Given the description of an element on the screen output the (x, y) to click on. 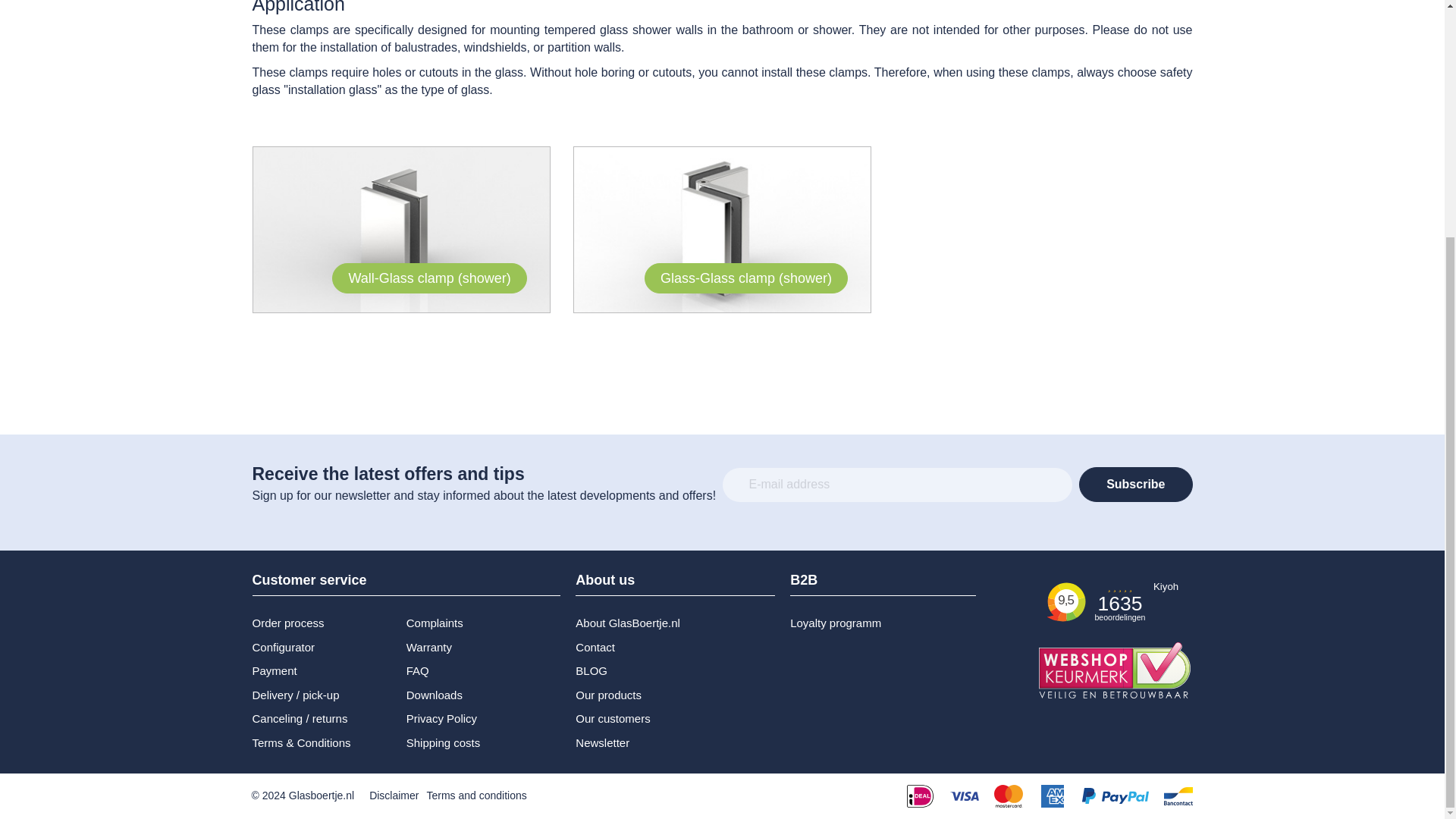
Loyalty programm for loyal customers (863, 622)
MasterCard (1007, 795)
Paypal (1114, 795)
Subscribe (1135, 484)
Visa (963, 795)
AMEX (1050, 795)
iDeal (919, 795)
Bancontact (1177, 795)
